Given the description of an element on the screen output the (x, y) to click on. 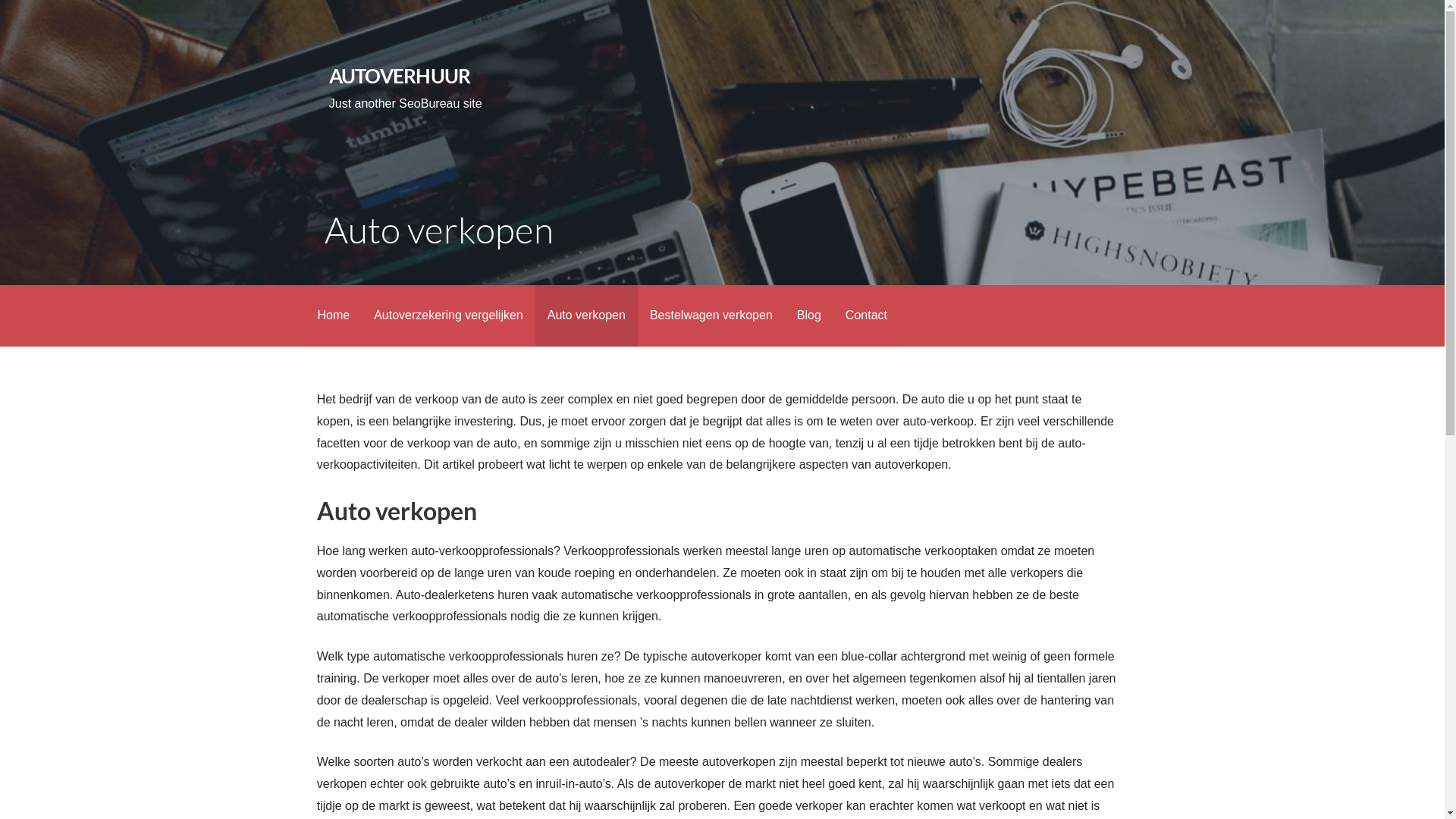
Blog Element type: text (808, 315)
Contact Element type: text (866, 315)
AUTOVERHUUR Element type: text (399, 75)
Autoverzekering vergelijken Element type: text (448, 315)
Home Element type: text (332, 315)
Bestelwagen verkopen Element type: text (710, 315)
Auto verkopen Element type: text (586, 315)
